Given the description of an element on the screen output the (x, y) to click on. 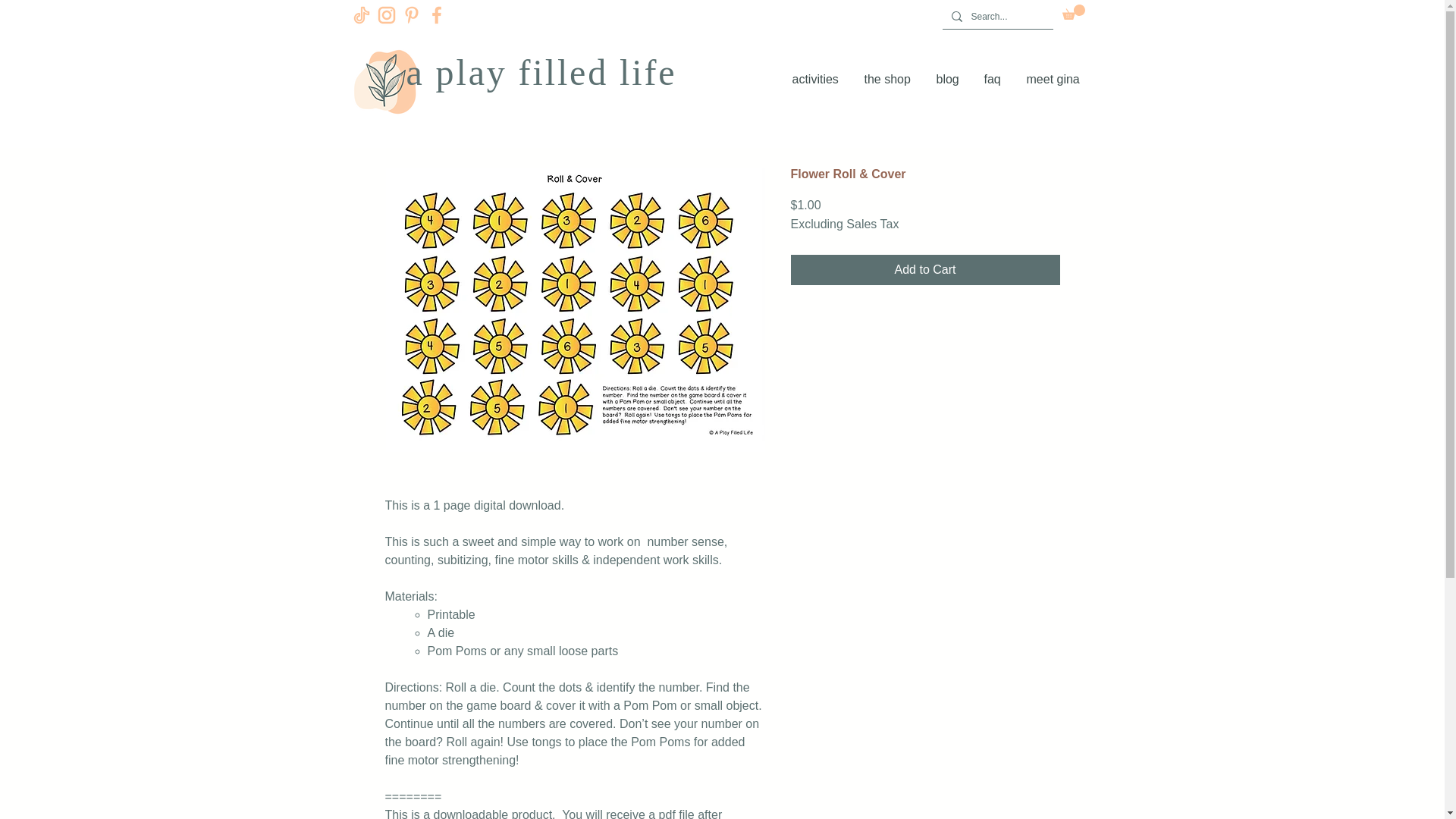
a play filled life (541, 72)
faq (993, 79)
blog (948, 79)
activities (816, 79)
meet gina (1053, 79)
Add to Cart (924, 269)
